Given the description of an element on the screen output the (x, y) to click on. 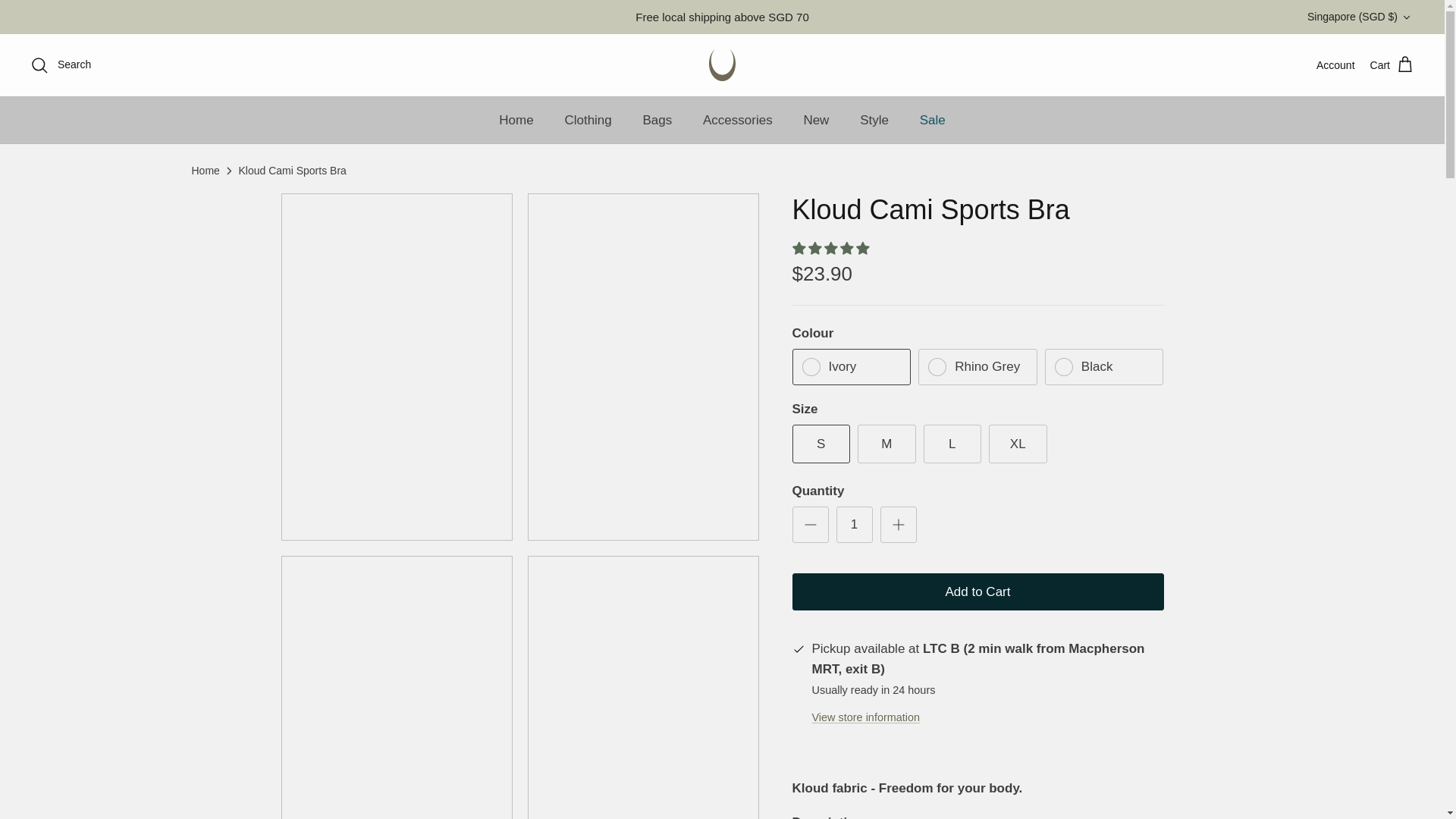
Clothing (587, 120)
Sale (932, 120)
Account (1335, 64)
Cart (1391, 65)
Bags (656, 120)
Down (1406, 17)
Minus (809, 524)
Accessories (737, 120)
Home (515, 120)
New (816, 120)
